Given the description of an element on the screen output the (x, y) to click on. 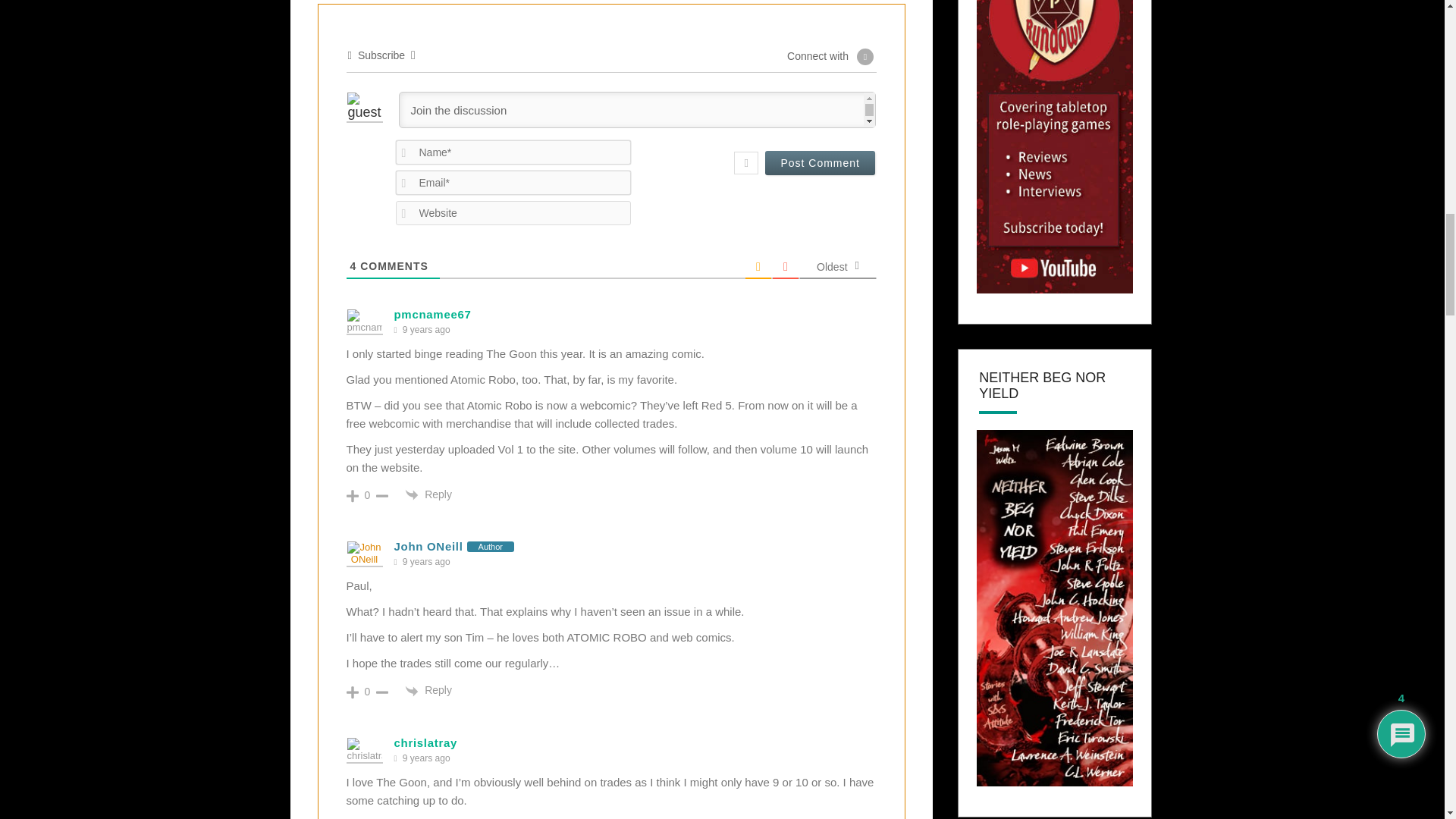
chrislatray (426, 742)
John ONeill (428, 545)
pmcnamee67 (432, 314)
0 (366, 494)
0 (366, 691)
Post Comment (820, 162)
Saturday, January 24, 2015 11:12 am (426, 562)
Thursday, January 22, 2015 3:16 pm (426, 329)
Post Comment (820, 162)
